Given the description of an element on the screen output the (x, y) to click on. 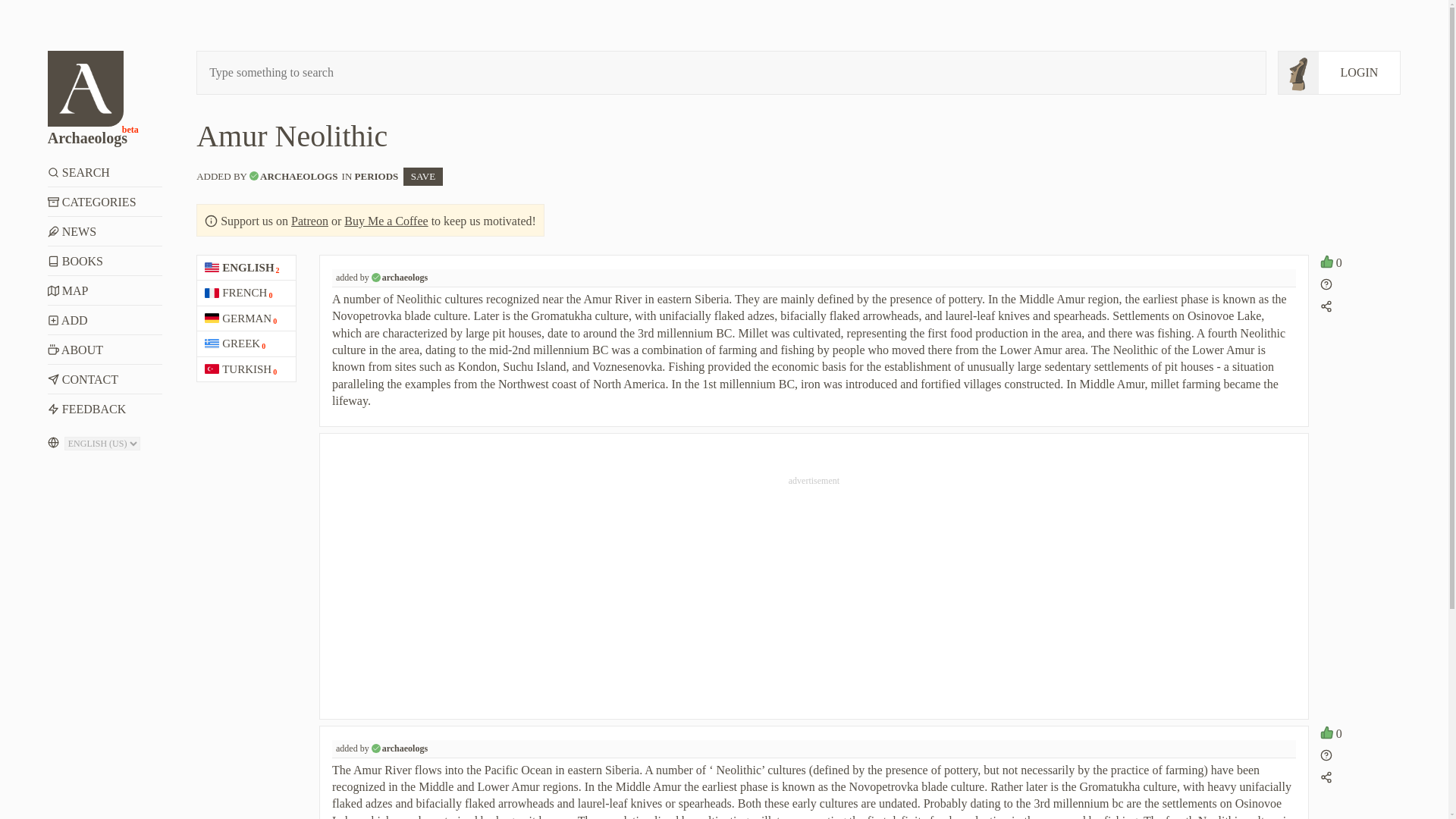
SAVE (422, 176)
 SEARCH (104, 172)
GERMAN0 (245, 318)
ARCHAEOLOGS (298, 175)
 NEWS (104, 231)
Approved account (375, 747)
Support Archaeologs on Patreon (85, 88)
 MAP (310, 220)
Approved account (104, 290)
